Given the description of an element on the screen output the (x, y) to click on. 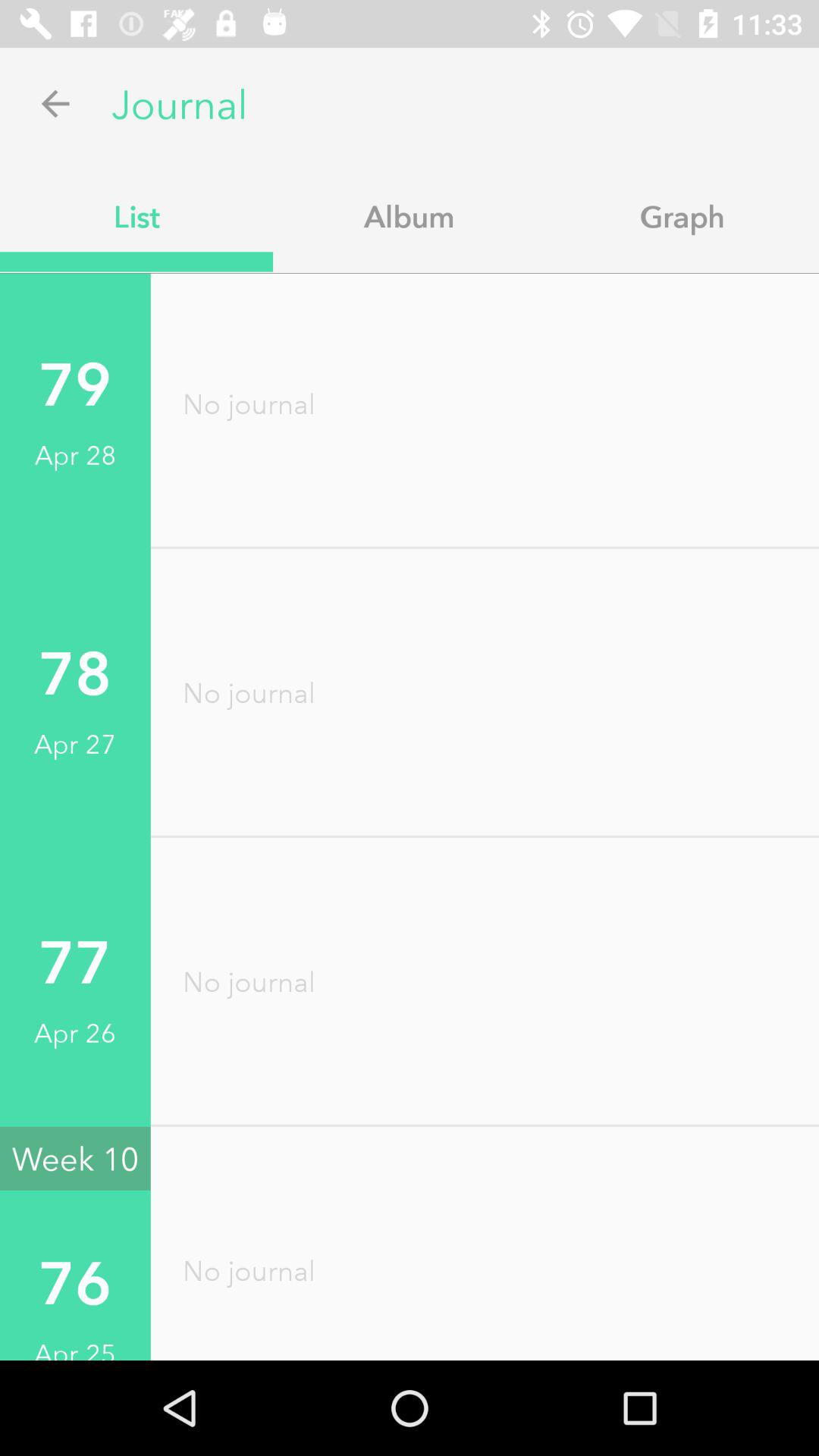
press app to the right of the album app (682, 216)
